Given the description of an element on the screen output the (x, y) to click on. 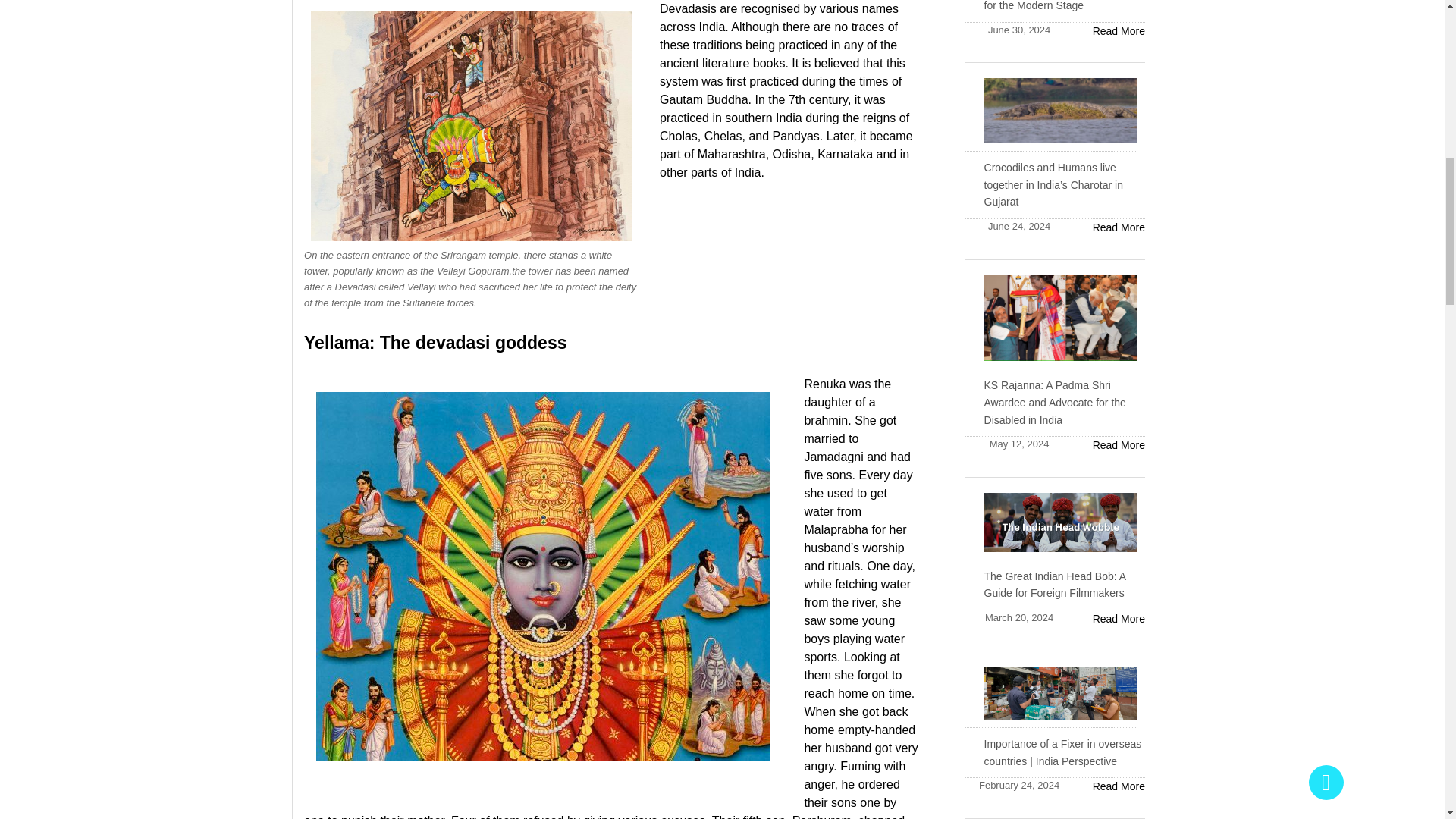
The Great Indian Head Bob: A Guide for Foreign Filmmakers (1054, 585)
The Great Indian Head Bob: A Guide for Foreign Filmmakers (1109, 618)
